Given the description of an element on the screen output the (x, y) to click on. 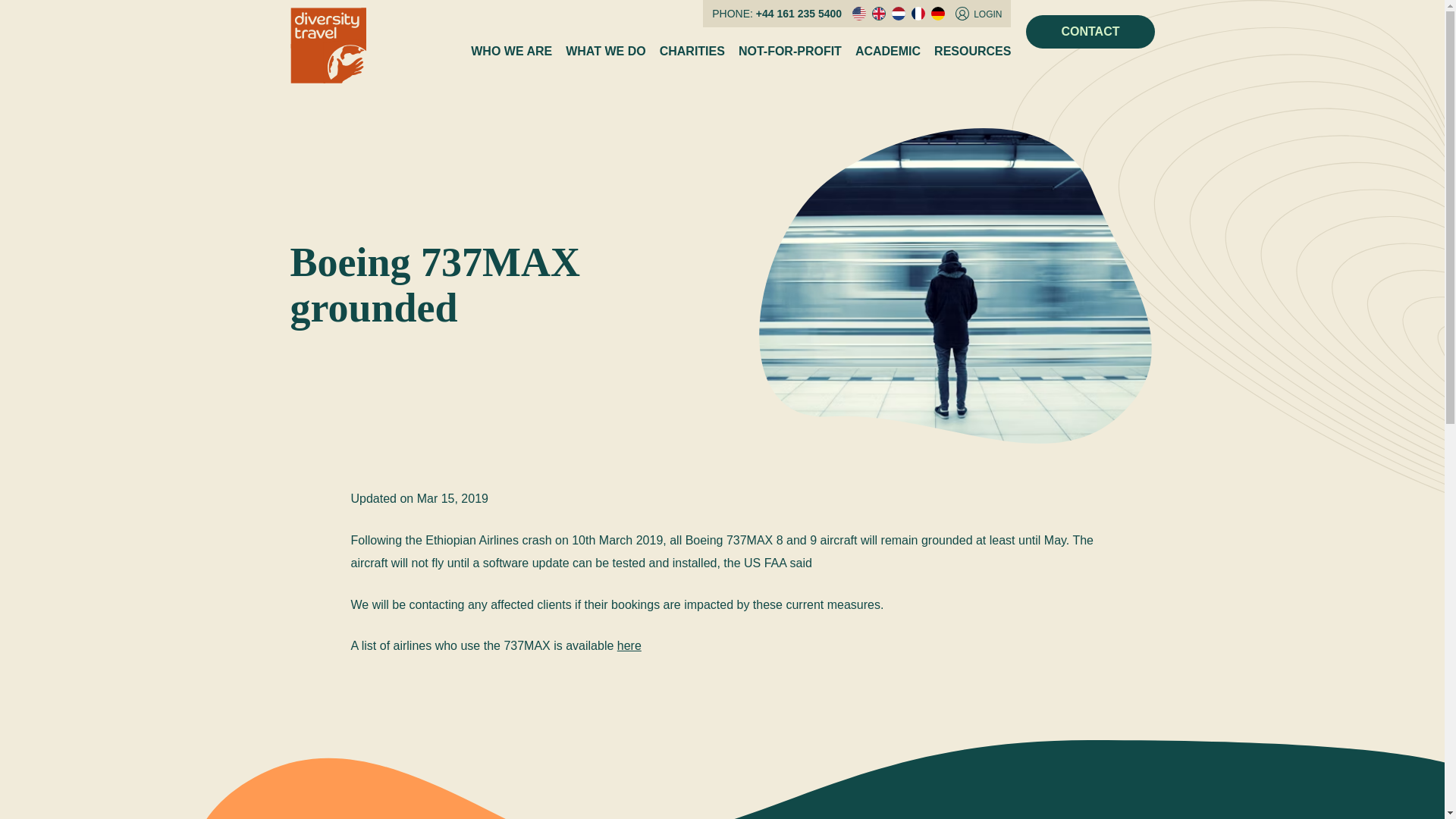
ACADEMIC (888, 51)
CHARITIES (692, 51)
here (629, 645)
NOT-FOR-PROFIT (789, 51)
RESOURCES (972, 51)
LOGIN (978, 13)
CONTACT (1090, 31)
WHAT WE DO (605, 51)
WHO WE ARE (510, 51)
